Given the description of an element on the screen output the (x, y) to click on. 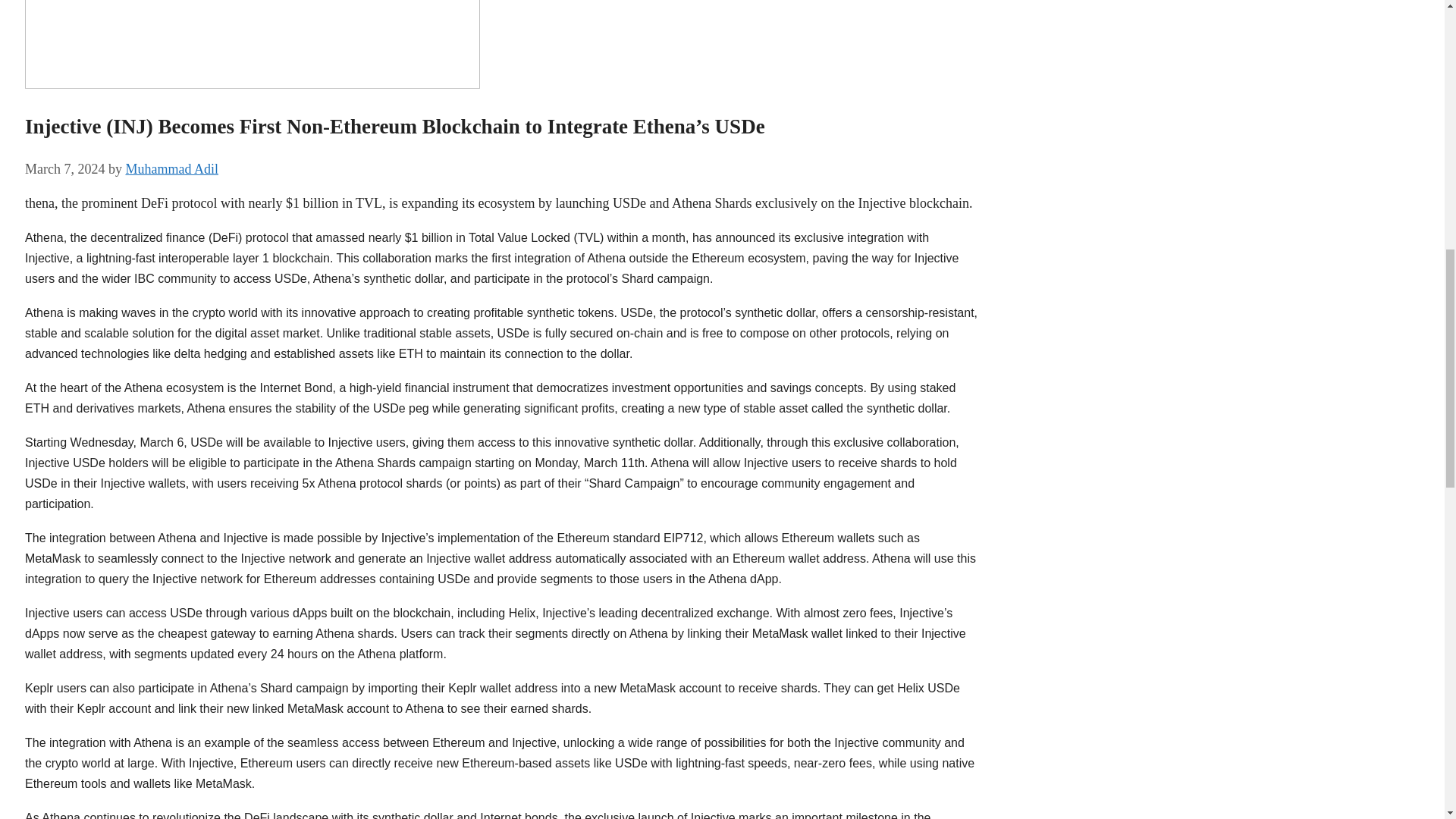
View all posts by Muhammad Adil (171, 168)
Muhammad Adil (171, 168)
Scroll back to top (1406, 720)
